Given the description of an element on the screen output the (x, y) to click on. 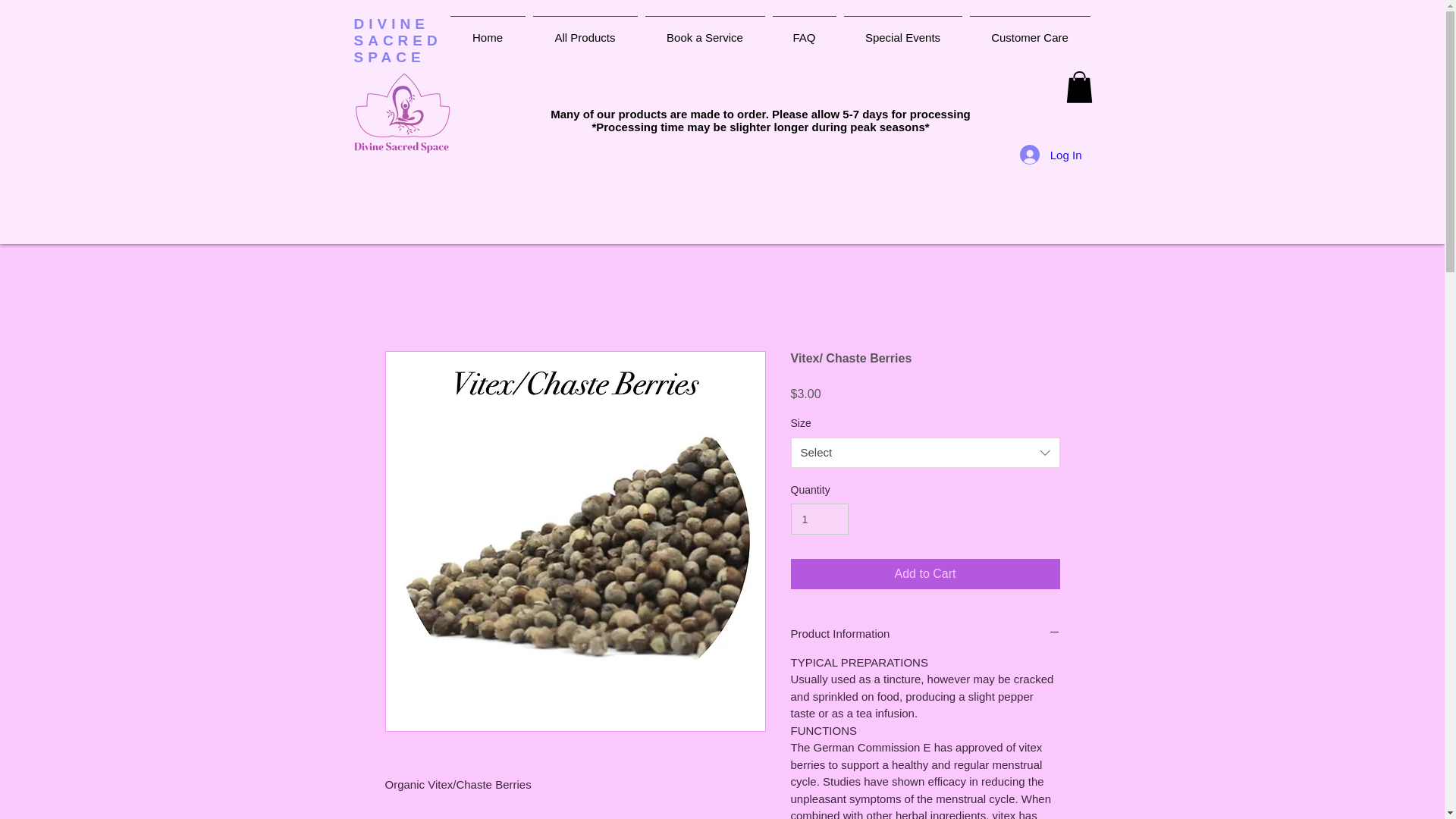
All Products (585, 30)
Home (486, 30)
Log In (1051, 154)
Add to Cart (924, 573)
Select (924, 452)
FAQ (804, 30)
Special Events (903, 30)
Product Information (924, 633)
1 (818, 518)
Customer Care (1030, 30)
